Given the description of an element on the screen output the (x, y) to click on. 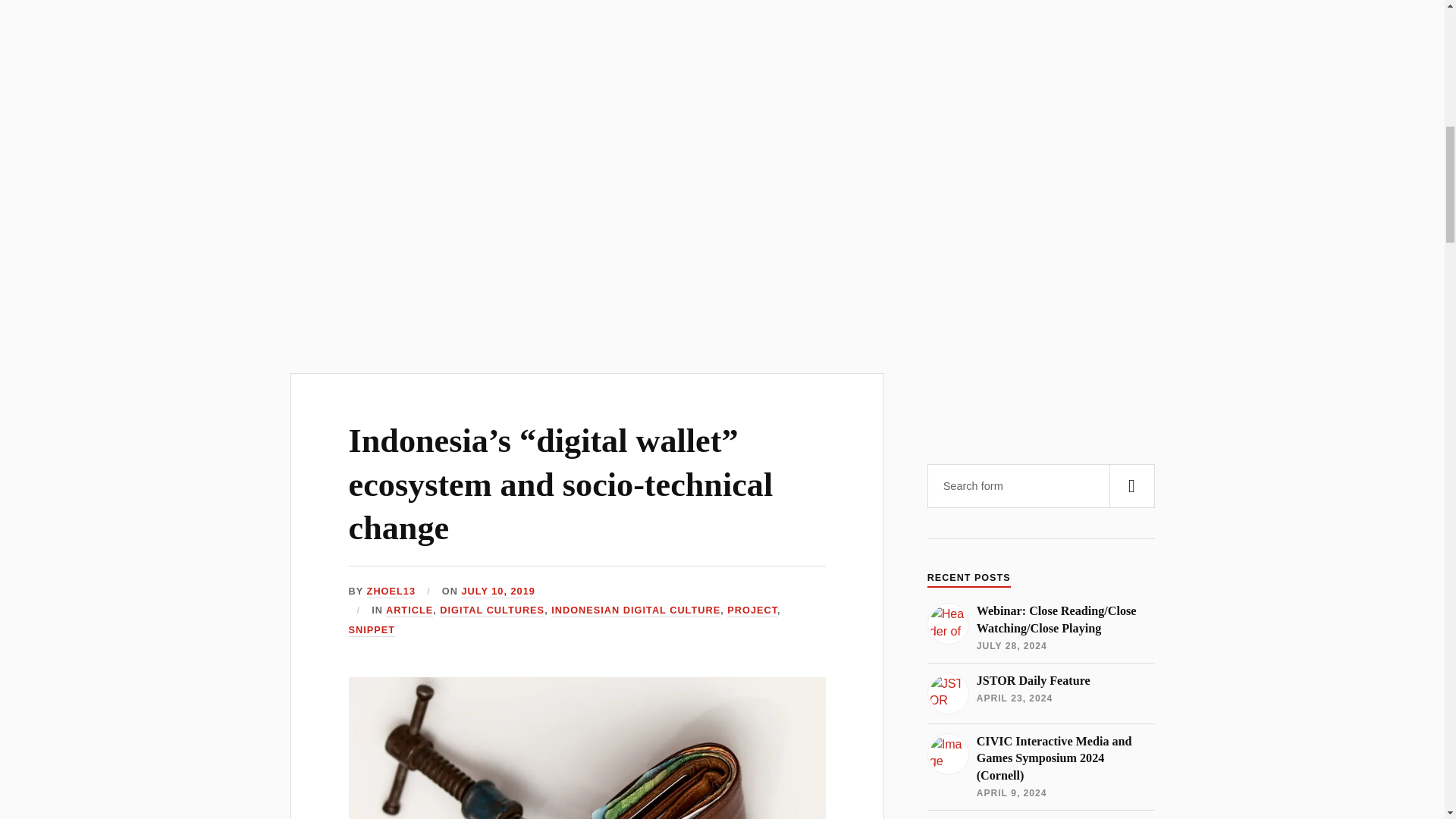
ZHOEL13 (390, 591)
DIGITAL CULTURES (491, 610)
SNIPPET (372, 630)
Posts by zhoel13 (390, 591)
ARTICLE (408, 610)
JULY 10, 2019 (497, 591)
INDONESIAN DIGITAL CULTURE (635, 610)
PROJECT (751, 610)
